Given the description of an element on the screen output the (x, y) to click on. 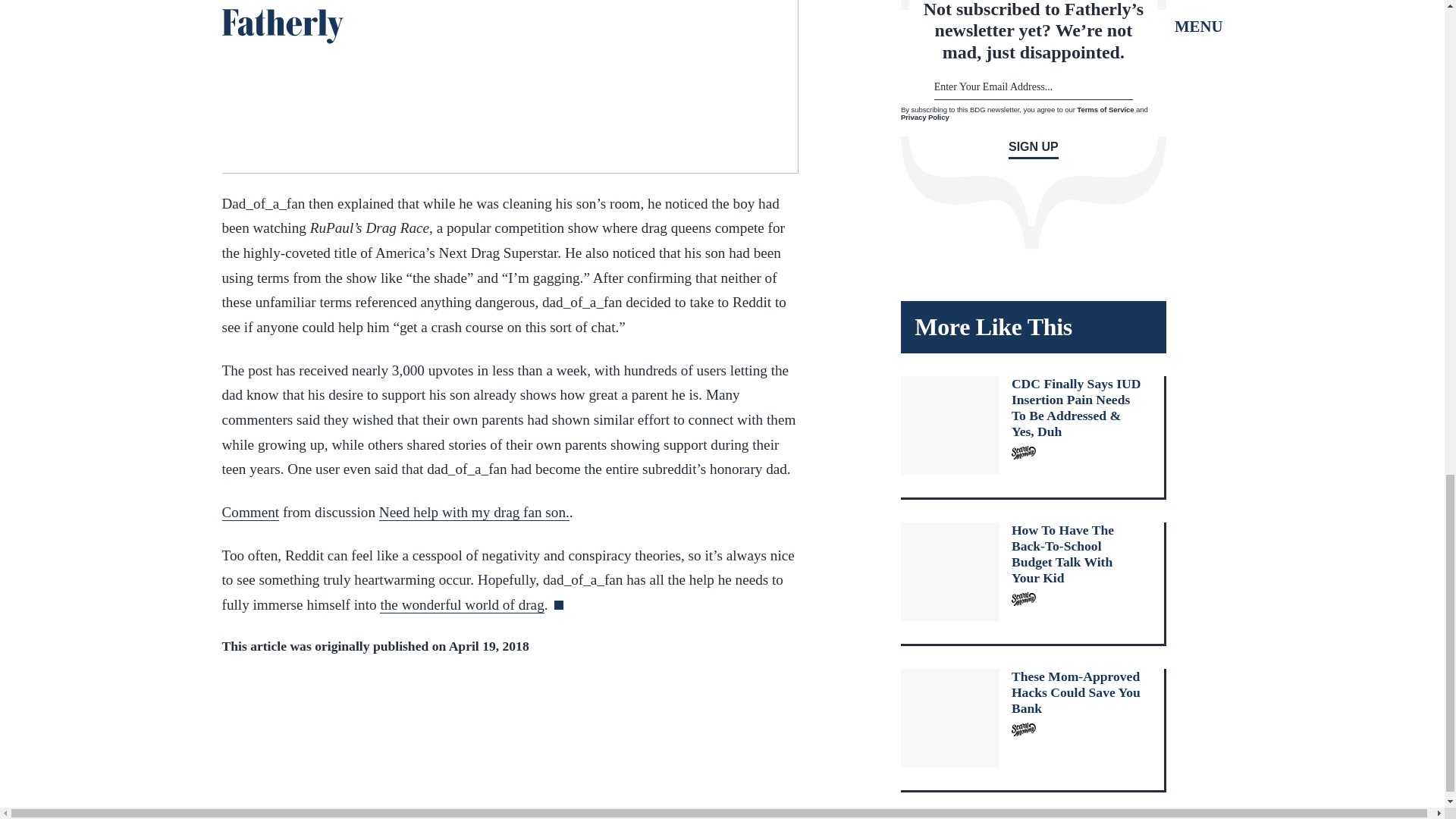
SIGN UP (1033, 149)
the wonderful world of drag (461, 605)
Privacy Policy (925, 117)
These Mom-Approved Hacks Could Save You Bank (1033, 730)
Comment (250, 512)
Terms of Service (1105, 109)
How To Have The Back-To-School Budget Talk With Your Kid (1033, 584)
Need help with my drag fan son. (473, 512)
